Given the description of an element on the screen output the (x, y) to click on. 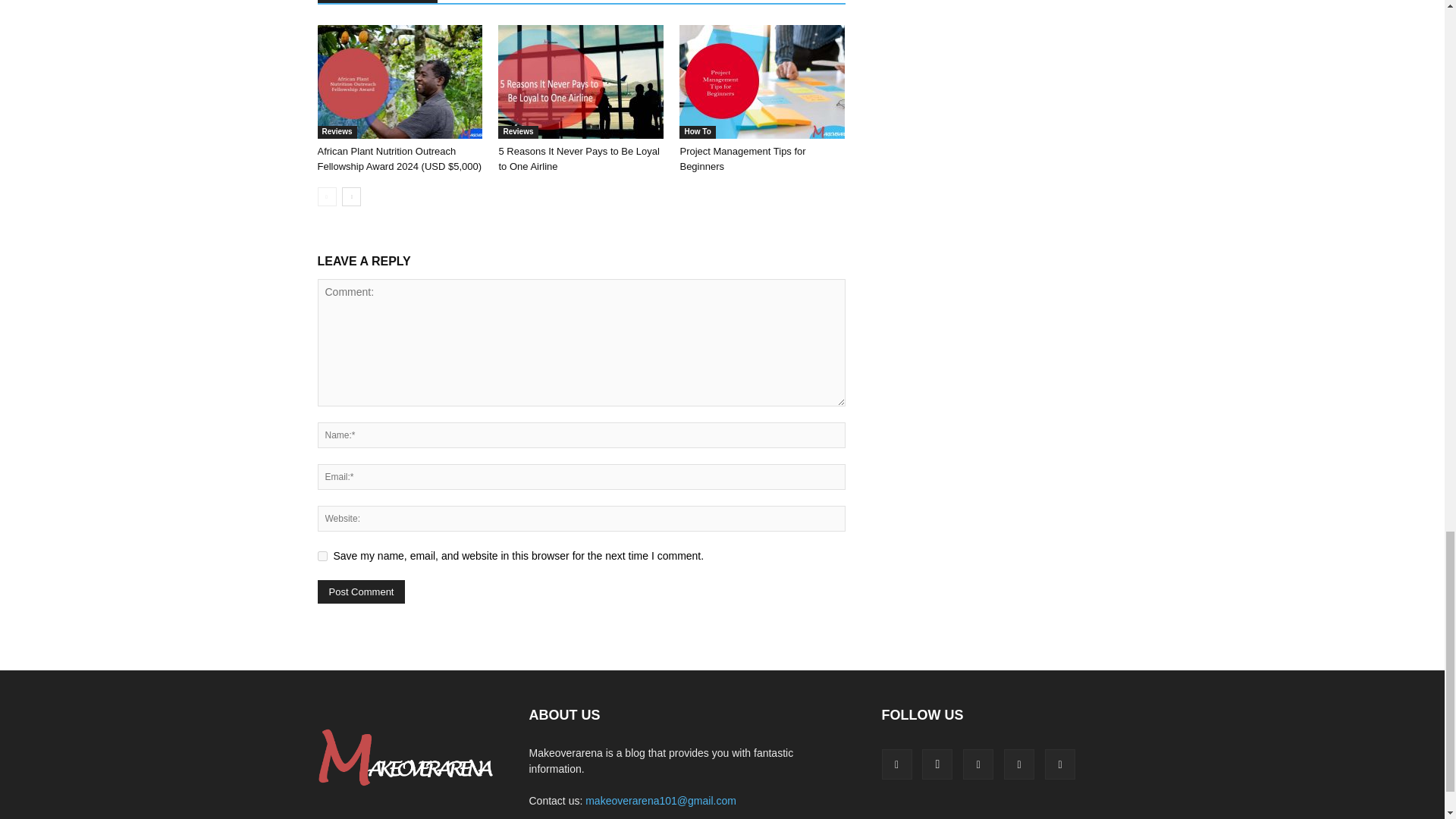
Post Comment (360, 591)
yes (321, 556)
